Given the description of an element on the screen output the (x, y) to click on. 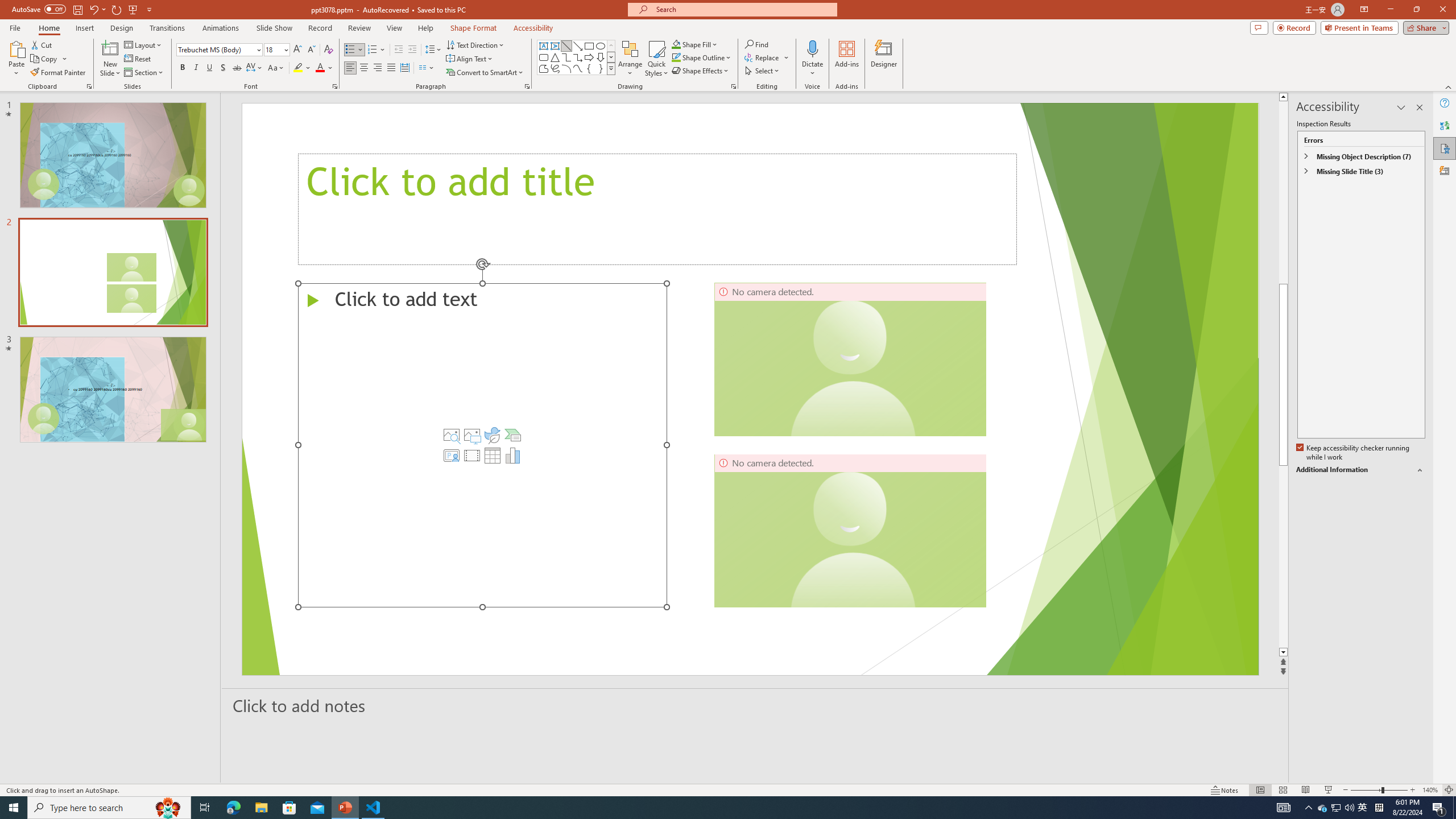
Decrease Indent (398, 49)
Text Direction (476, 44)
Font... (334, 85)
Paragraph... (526, 85)
Character Spacing (254, 67)
Insert a SmartArt Graphic (512, 434)
